Given the description of an element on the screen output the (x, y) to click on. 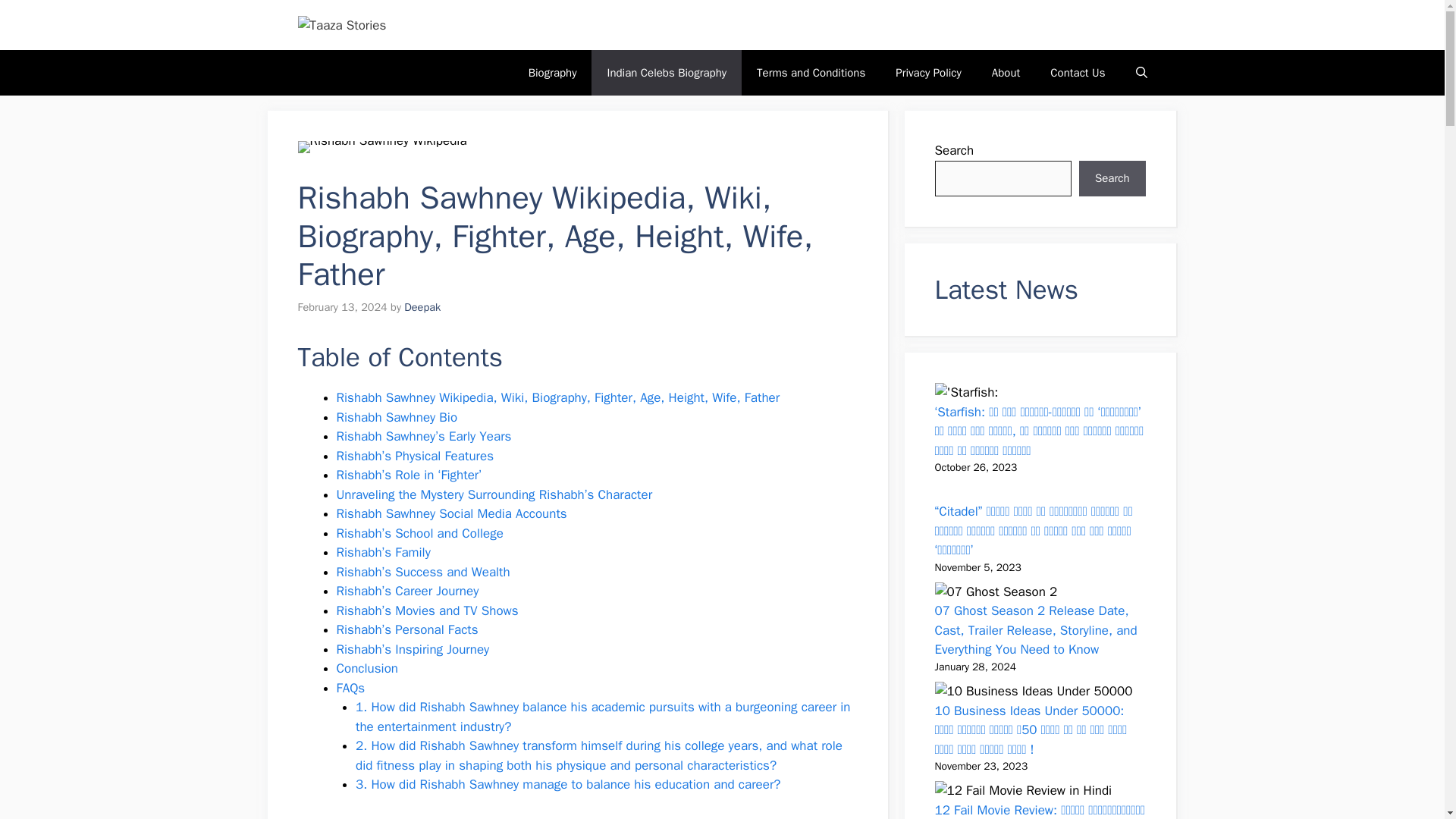
Contact Us (1077, 72)
View all posts by Deepak (422, 306)
Indian Celebs Biography (666, 72)
Deepak (422, 306)
Terms and Conditions (810, 72)
Rishabh Sawhney Social Media Accounts (451, 513)
FAQs (350, 688)
Biography (552, 72)
About (1005, 72)
Conclusion (366, 668)
Rishabh Sawhney Bio (397, 417)
